Given the description of an element on the screen output the (x, y) to click on. 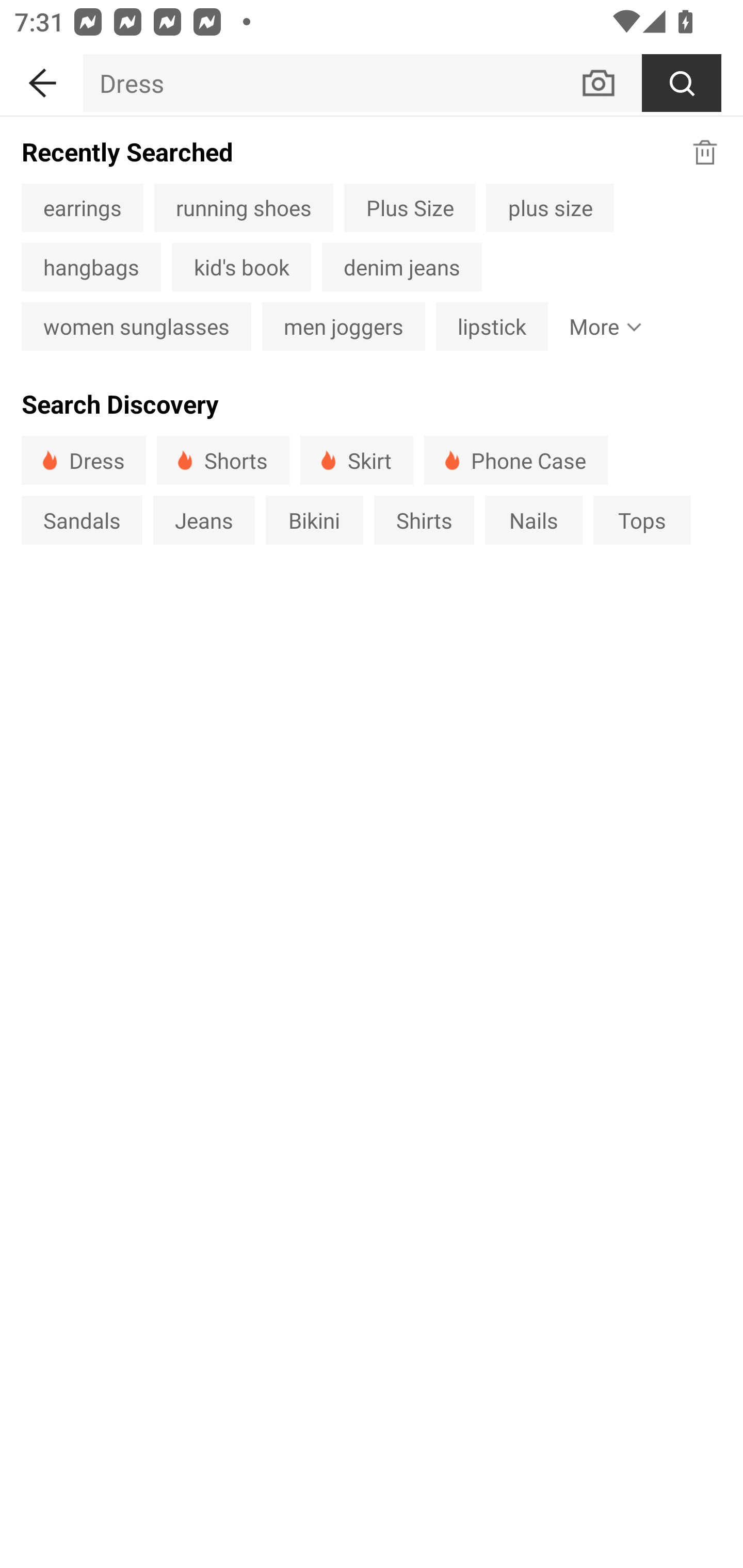
BACK (41, 79)
Dress (330, 82)
earrings (82, 207)
running shoes (243, 207)
Plus Size (409, 207)
plus size (549, 207)
hangbags (91, 267)
kid's book (241, 267)
denim jeans (401, 267)
women sunglasses (136, 326)
men joggers (343, 326)
lipstick (492, 326)
More Show More (600, 326)
Dress (83, 459)
Shorts (222, 459)
Skirt (356, 459)
Phone Case (515, 459)
Sandals (81, 519)
Jeans (203, 519)
Bikini (314, 519)
Shirts (423, 519)
Nails (533, 519)
Tops (641, 519)
